Given the description of an element on the screen output the (x, y) to click on. 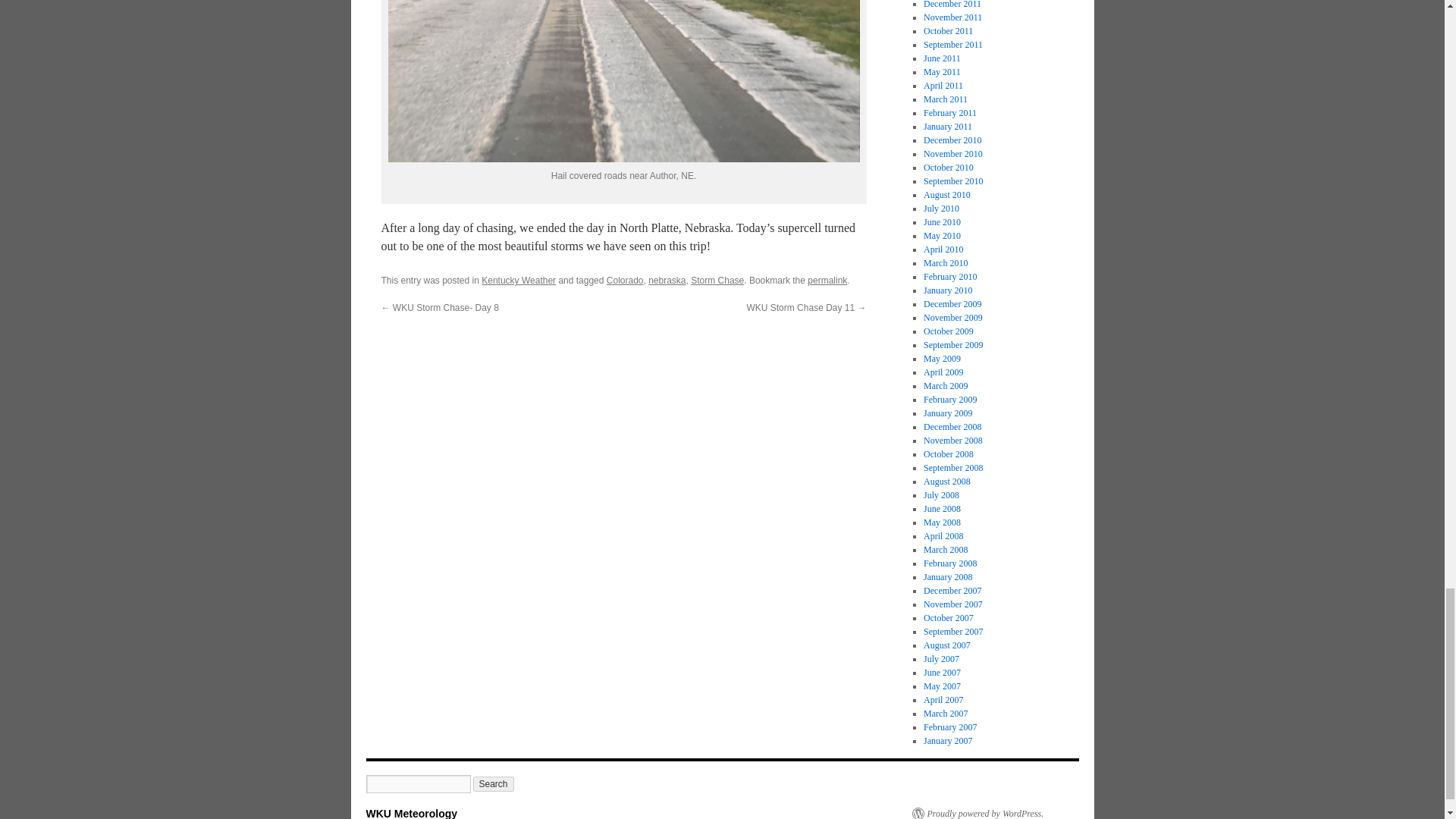
Permalink to WKU Storm Chase- Day 9 (827, 280)
Kentucky Weather (518, 280)
Storm Chase (717, 280)
Search (493, 783)
nebraska (666, 280)
permalink (827, 280)
Colorado (625, 280)
